Given the description of an element on the screen output the (x, y) to click on. 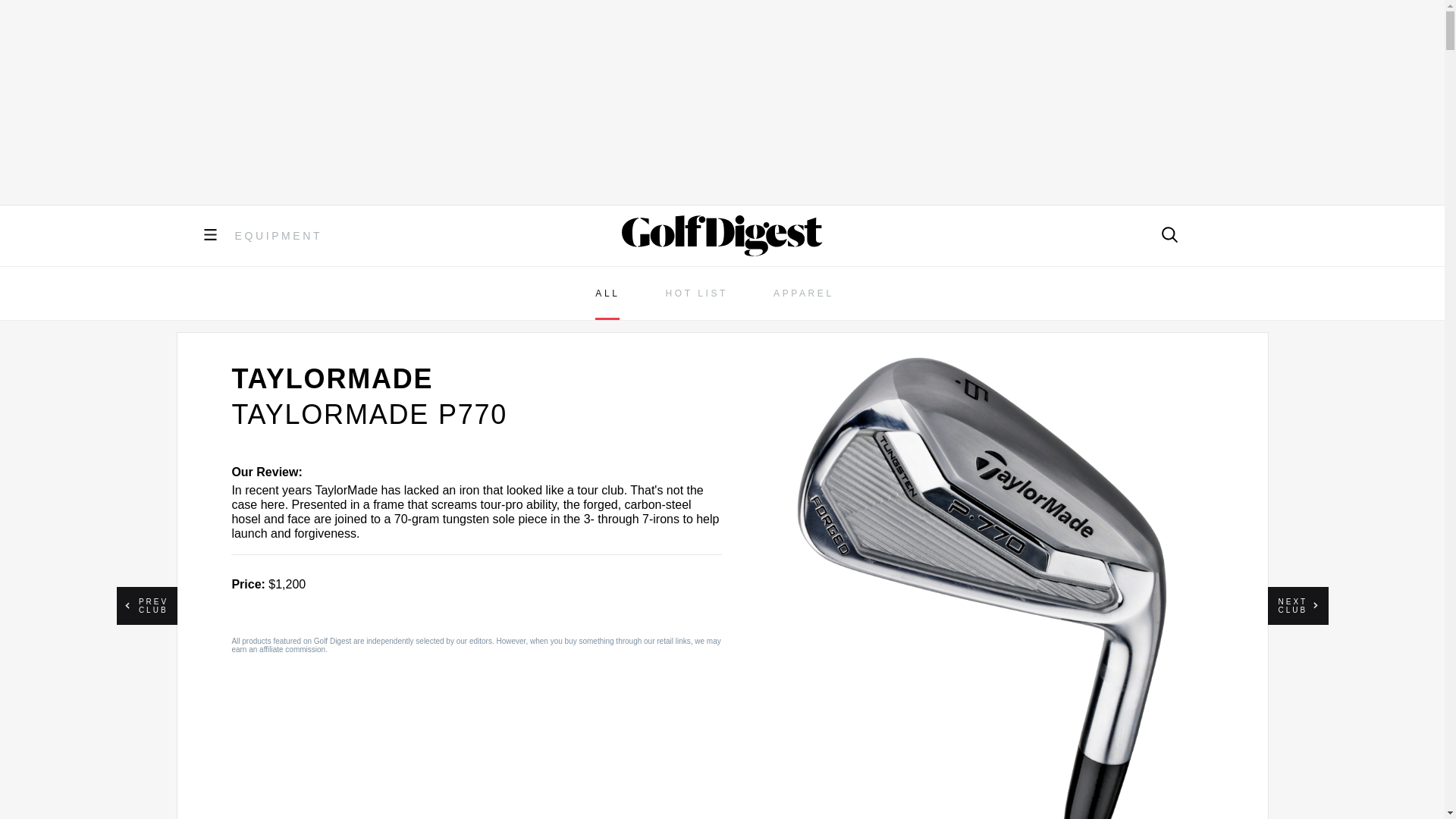
HOT LIST (696, 293)
EQUIPMENT (278, 235)
APPAREL (803, 293)
